Given the description of an element on the screen output the (x, y) to click on. 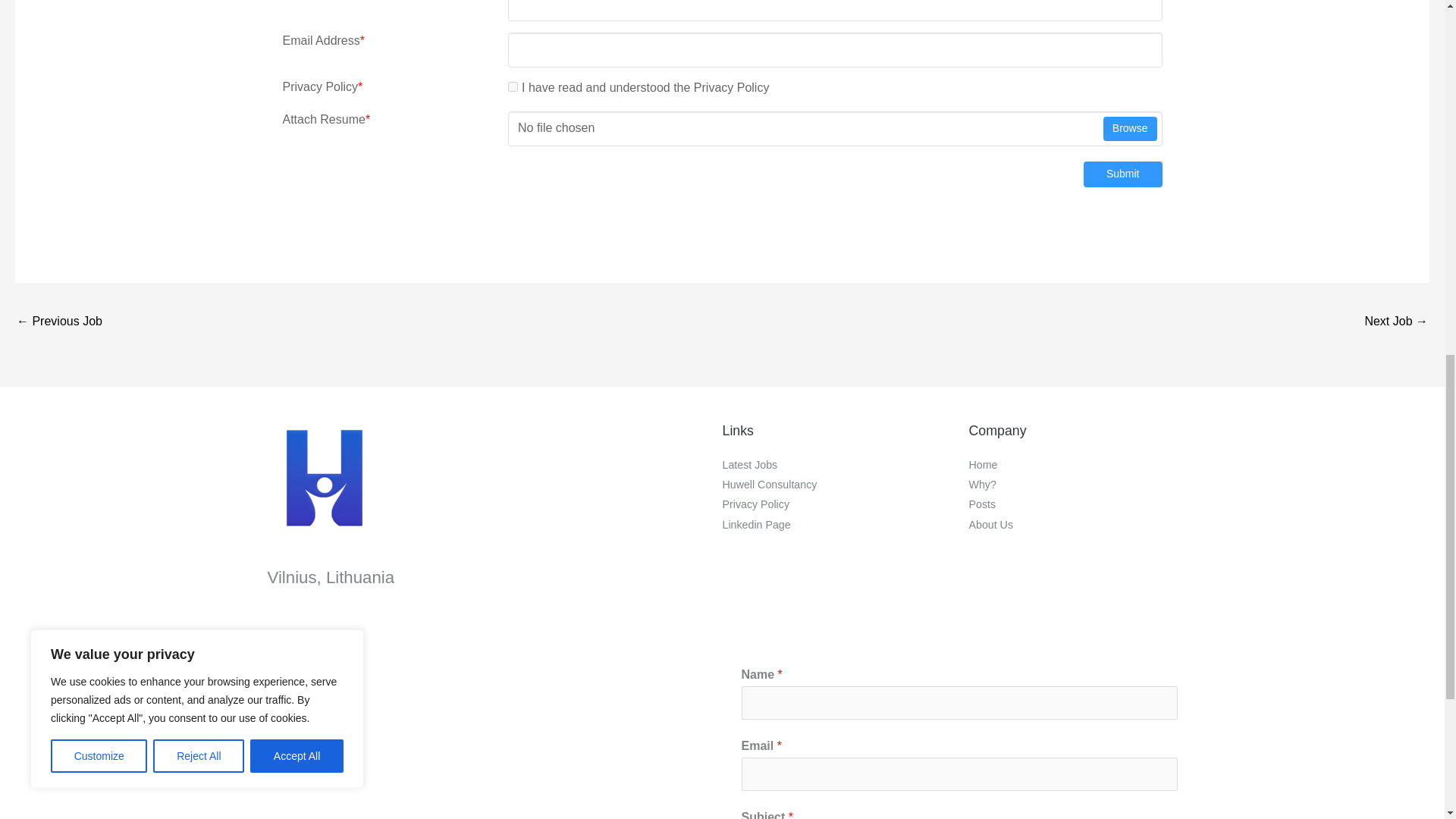
About Us (991, 524)
Why? (982, 484)
Latest Jobs (749, 464)
Huwell Consultancy (769, 484)
Linkedin Page (756, 524)
Home (983, 464)
Posts (982, 503)
I have read and understood the Privacy Policy (513, 86)
Privacy Policy (755, 503)
Submit (1122, 174)
